Given the description of an element on the screen output the (x, y) to click on. 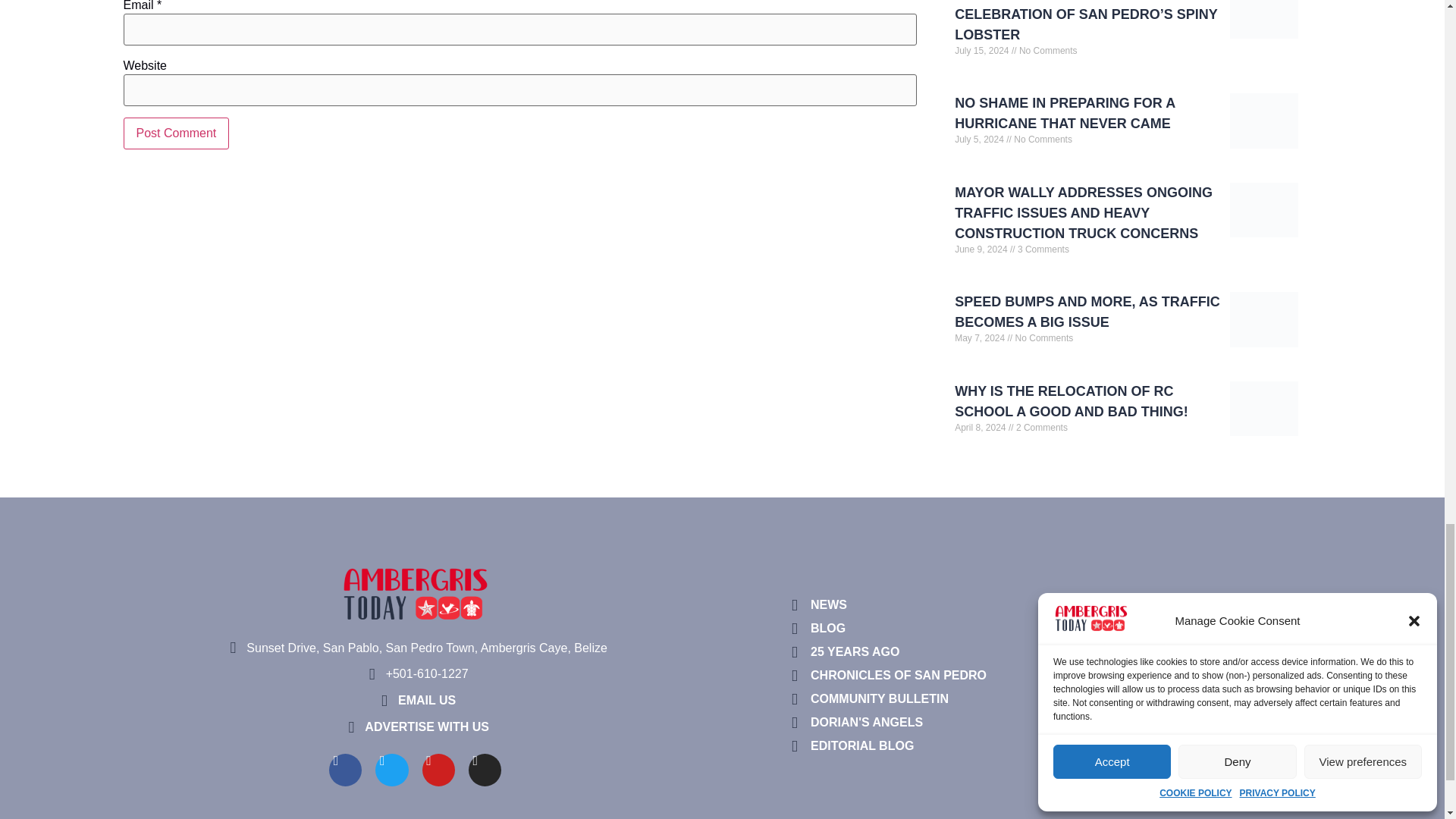
Post Comment (175, 133)
